Given the description of an element on the screen output the (x, y) to click on. 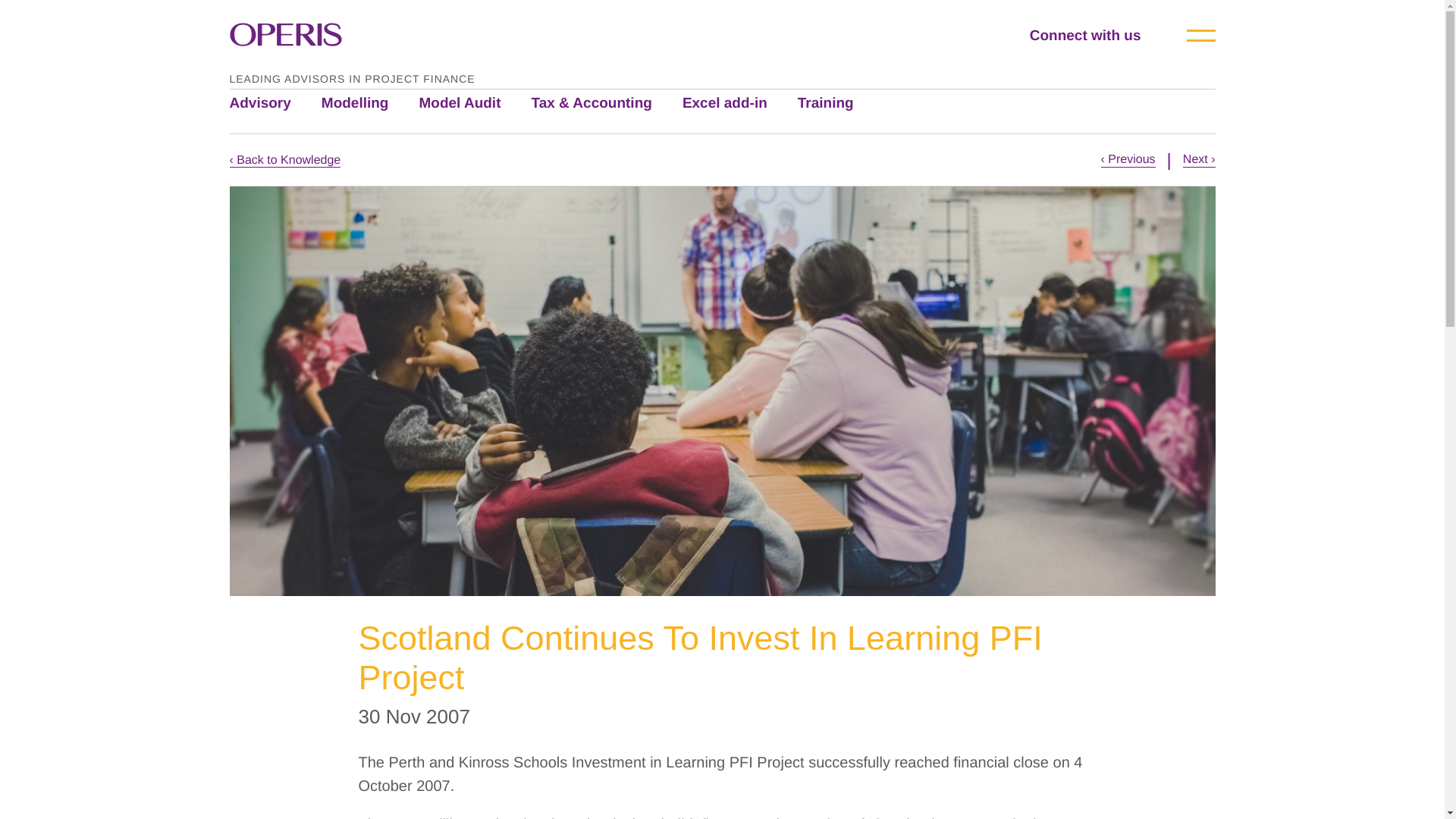
Model Audit (475, 103)
Operis (284, 35)
Advisory (274, 103)
Connect with us (1107, 36)
Excel add-in (739, 103)
Training (840, 103)
Modelling (370, 103)
